Given the description of an element on the screen output the (x, y) to click on. 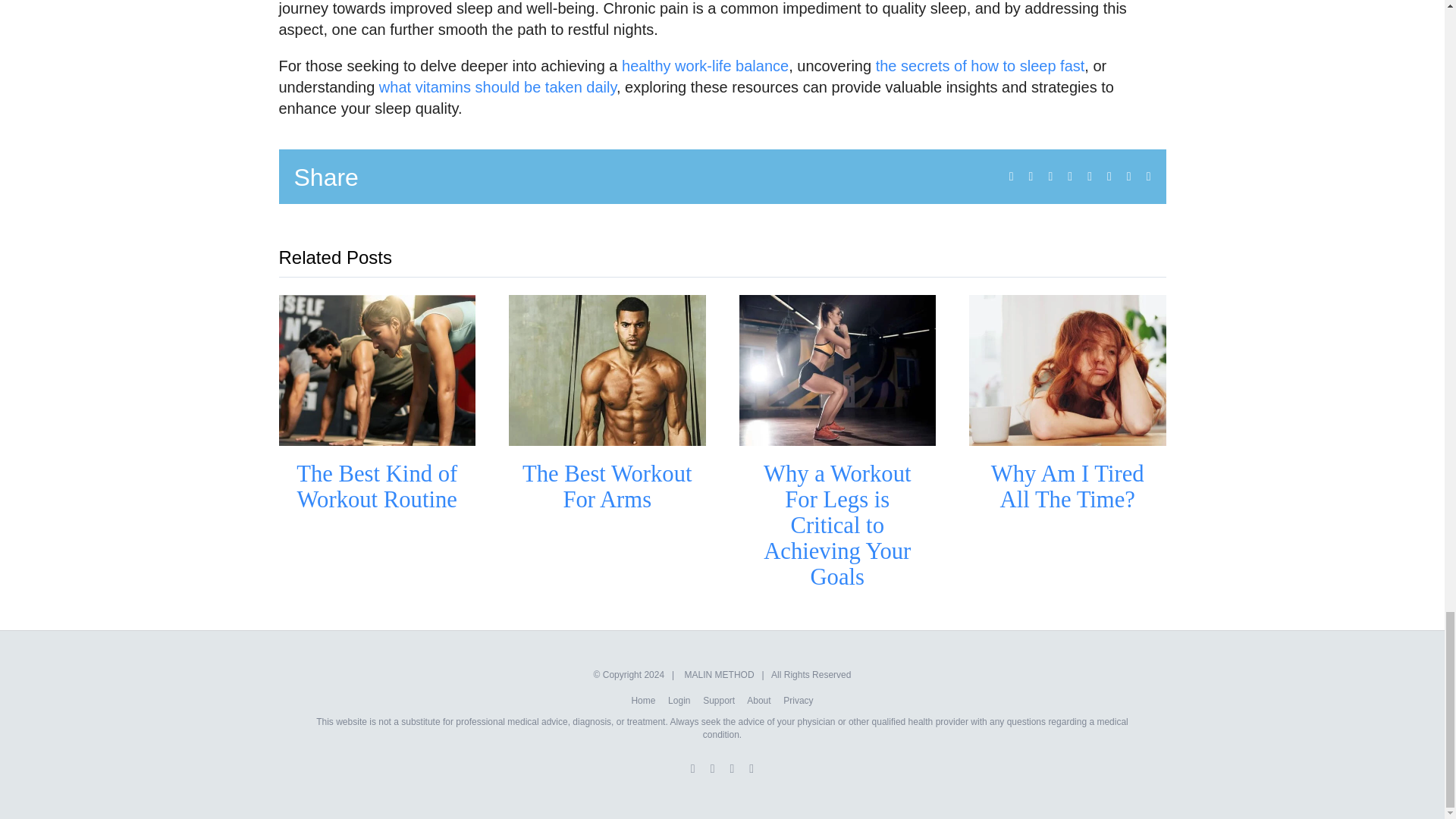
Why Am I Tired All The Time? (1067, 486)
The Best Workout For Arms (606, 486)
The Best Kind of Workout Routine (377, 486)
Why a Workout For Legs is Critical to Achieving Your Goals (836, 525)
